Given the description of an element on the screen output the (x, y) to click on. 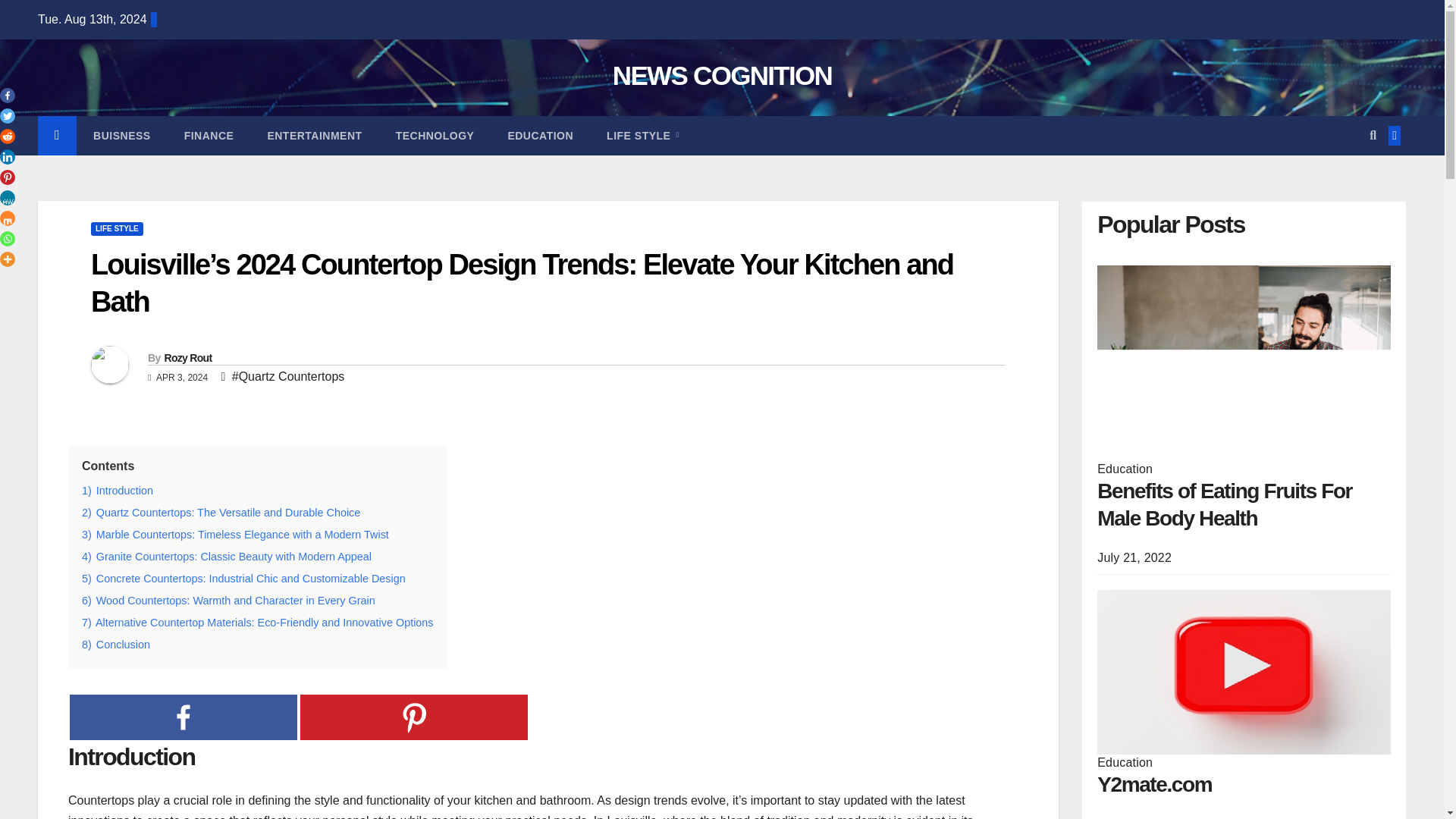
Whatsapp (7, 238)
TECHNOLOGY (435, 134)
FINANCE (208, 134)
Education (539, 134)
MeWe (7, 197)
BUISNESS (122, 134)
Entertainment (314, 134)
Reddit (7, 136)
Rozy Rout (187, 357)
Technology (435, 134)
